Given the description of an element on the screen output the (x, y) to click on. 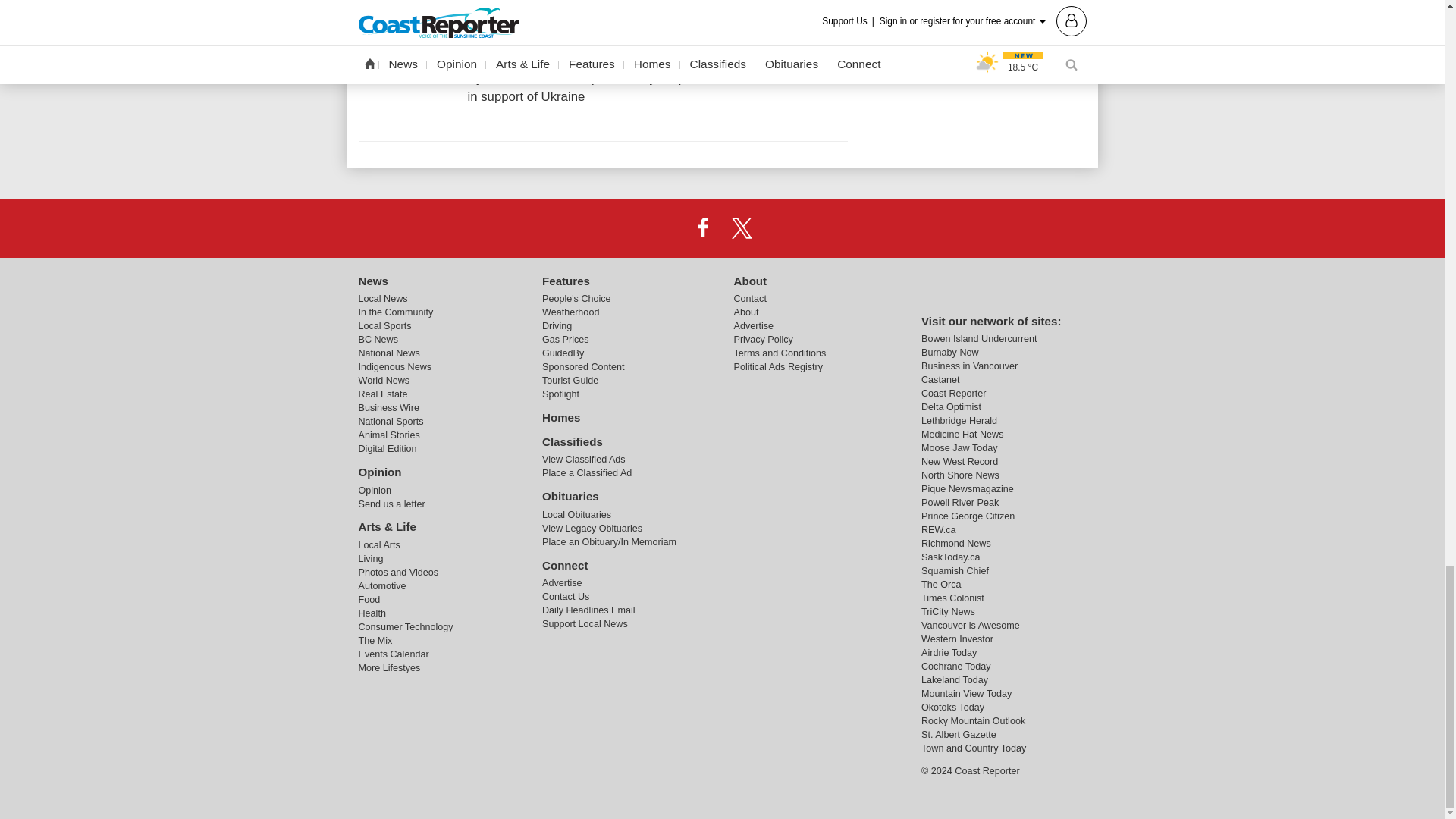
Facebook (702, 226)
X (741, 226)
